Given the description of an element on the screen output the (x, y) to click on. 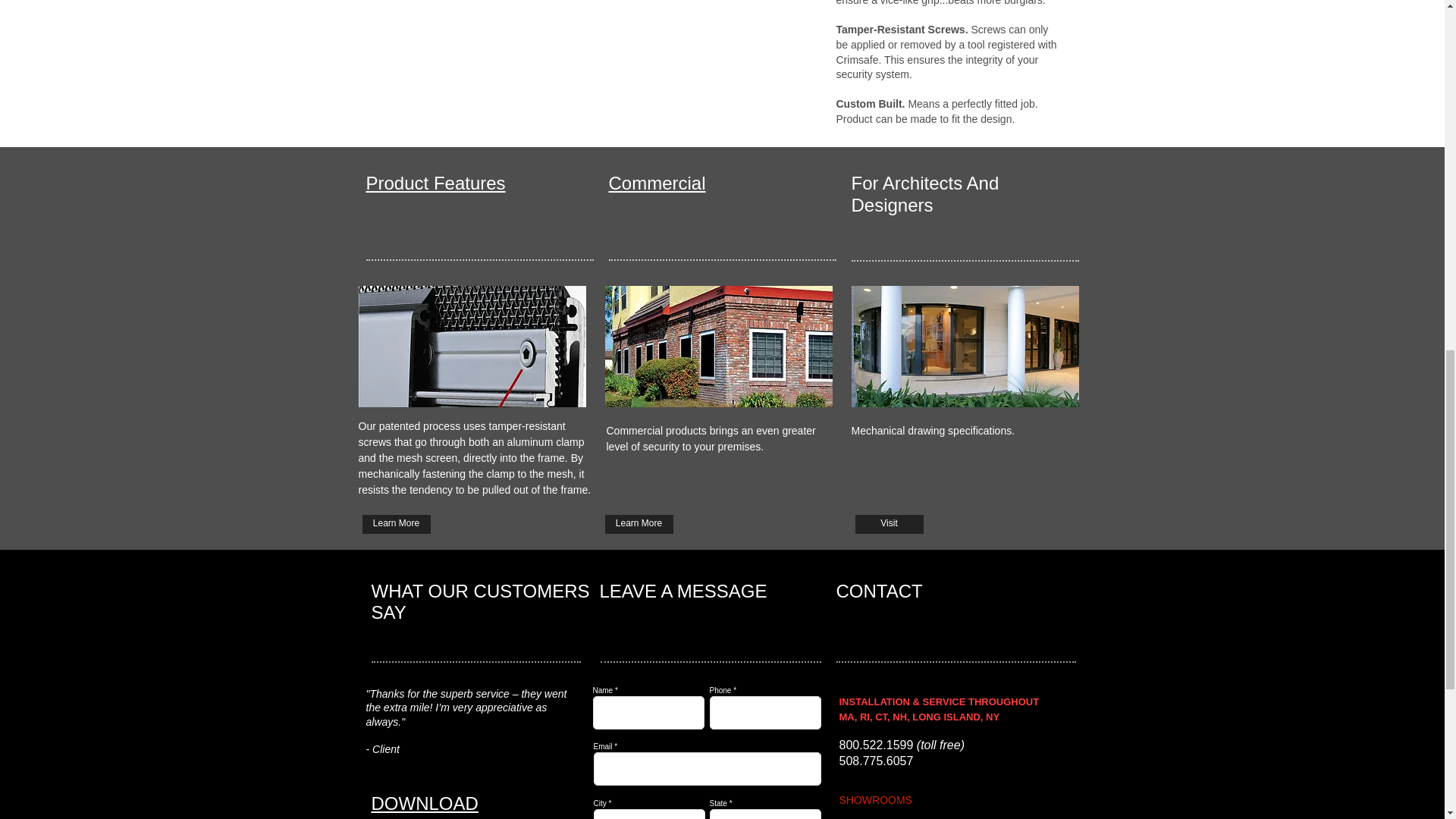
Learn More (638, 524)
DOWNLOAD BROCHURES (429, 806)
CONTACT (878, 590)
Commercial (656, 182)
Product Features (435, 182)
800.522.1599 (875, 744)
Visit (889, 524)
Learn More (396, 524)
LEAVE A MESSAGE (682, 590)
508.775.6057 (875, 760)
